Given the description of an element on the screen output the (x, y) to click on. 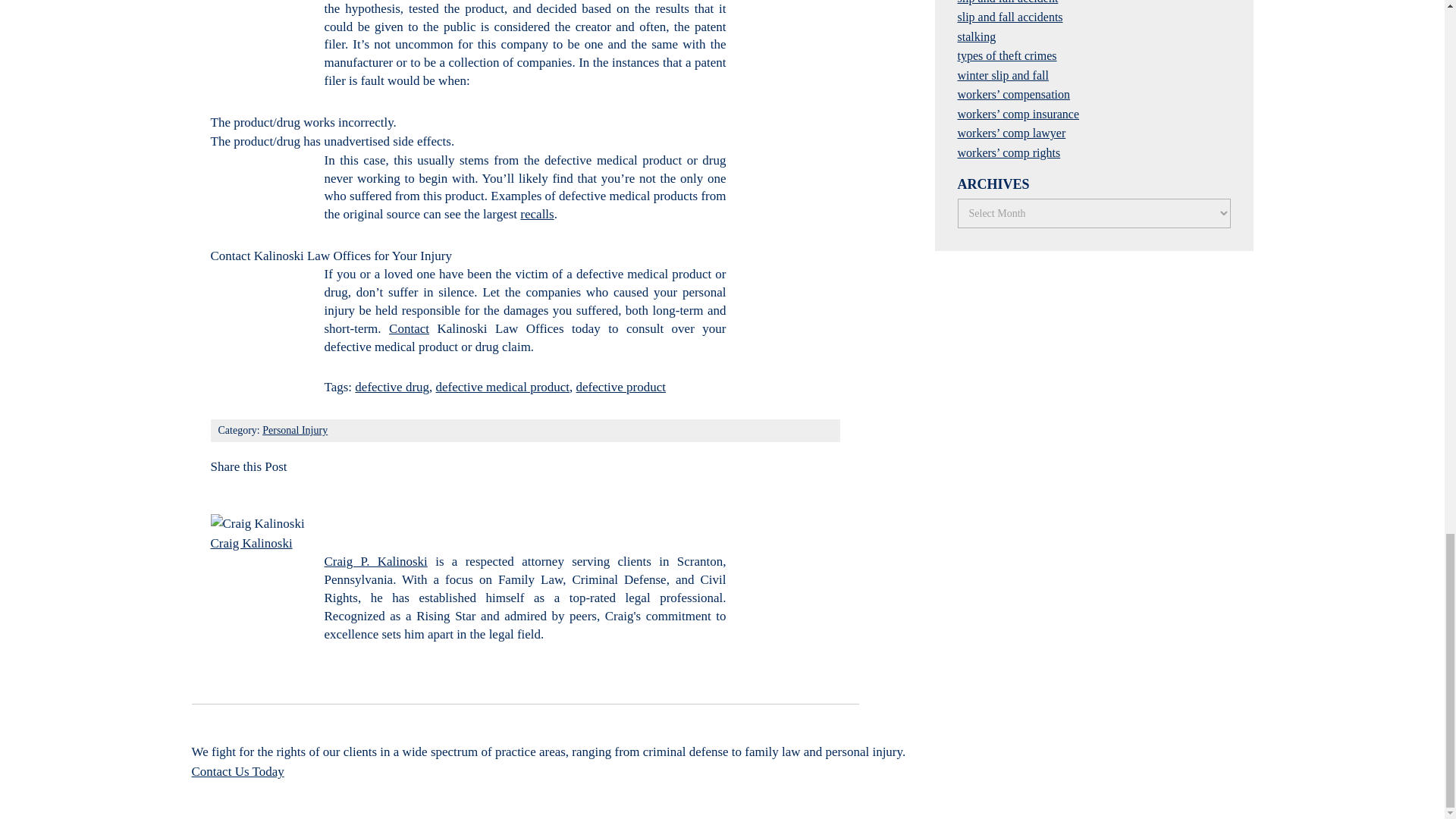
Craig Kalinoski (251, 543)
defective product (620, 386)
defective drug (392, 386)
Personal Injury (294, 430)
defective medical product (502, 386)
Craig P. Kalinoski (376, 561)
Contact (408, 328)
recalls (536, 214)
Craig Kalinoski (251, 543)
